Given the description of an element on the screen output the (x, y) to click on. 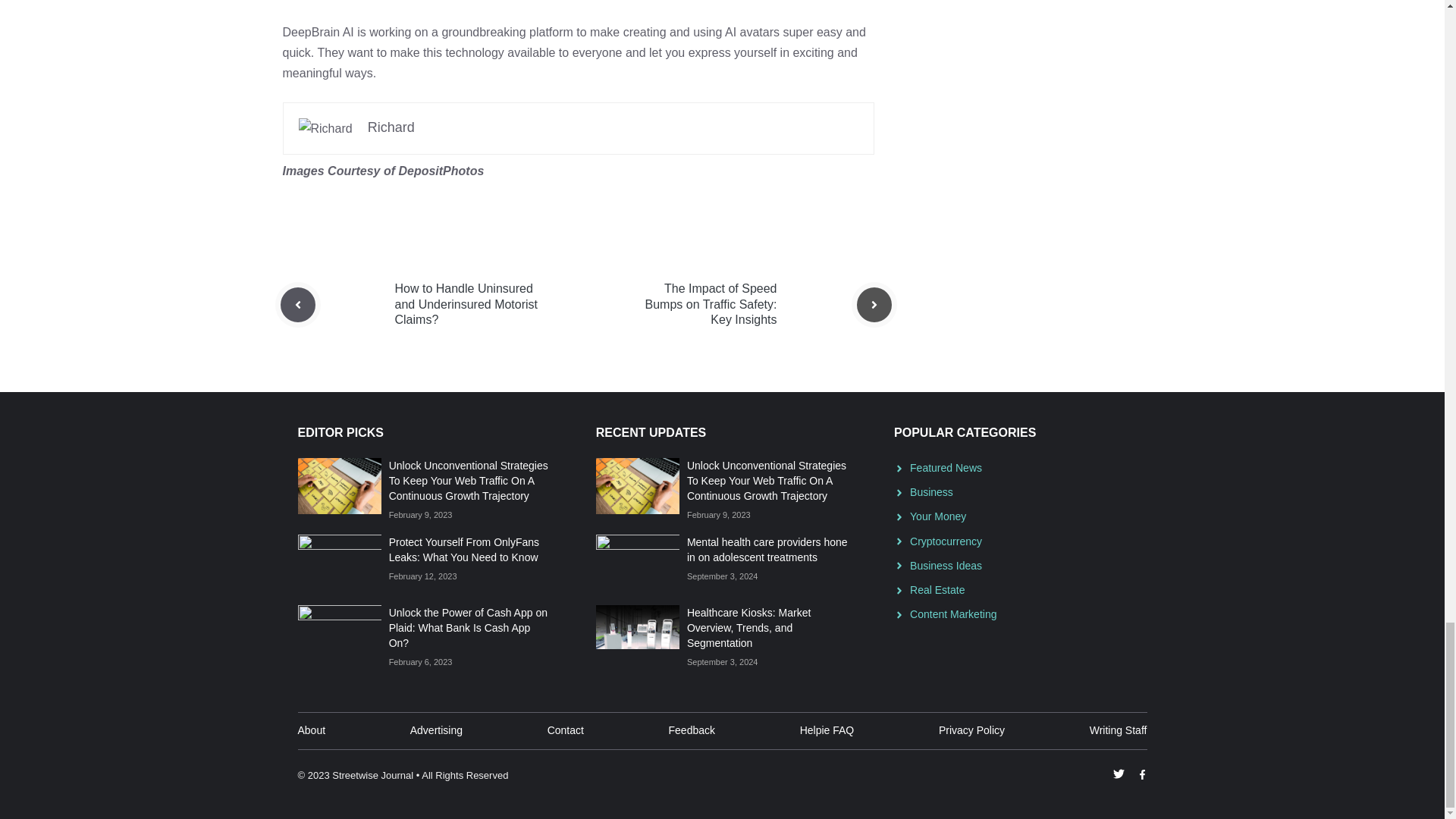
DepositPhotos (440, 170)
The Impact of Speed Bumps on Traffic Safety: Key Insights (710, 303)
Protect Yourself From OnlyFans Leaks: What You Need to Know (463, 549)
Richard (391, 127)
How to Handle Uninsured and Underinsured Motorist Claims? (465, 303)
Healthcare Kiosks: Market Overview, Trends, and Segmentation (748, 627)
